Given the description of an element on the screen output the (x, y) to click on. 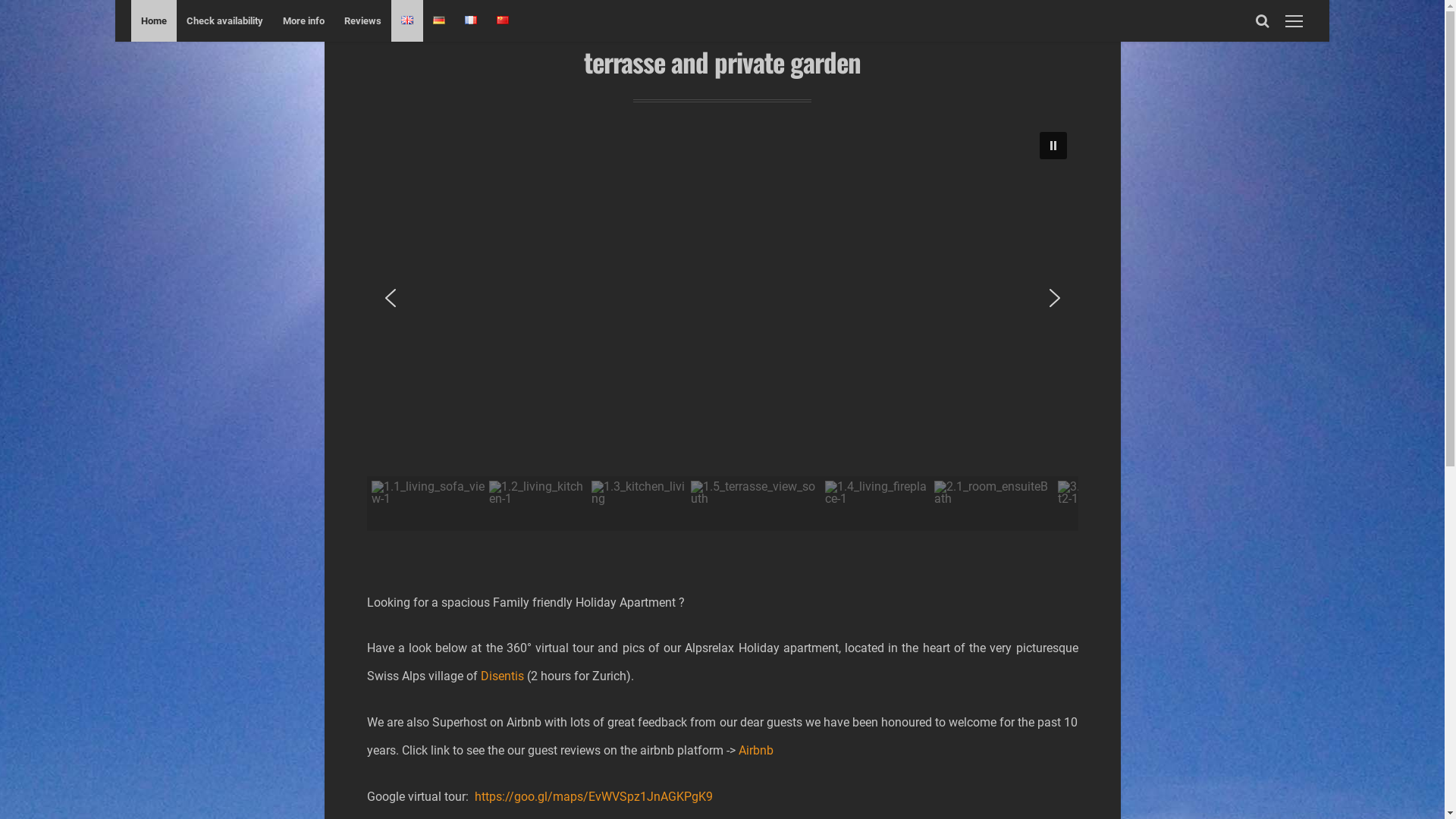
Home Element type: text (153, 20)
Airbnb Element type: text (755, 750)
Disentis Element type: text (502, 675)
Reviews Element type: text (362, 20)
Check availability Element type: text (224, 20)
https://goo.gl/maps/EvWVSpz1JnAGKPgK9 Element type: text (593, 796)
More info Element type: text (303, 20)
